Given the description of an element on the screen output the (x, y) to click on. 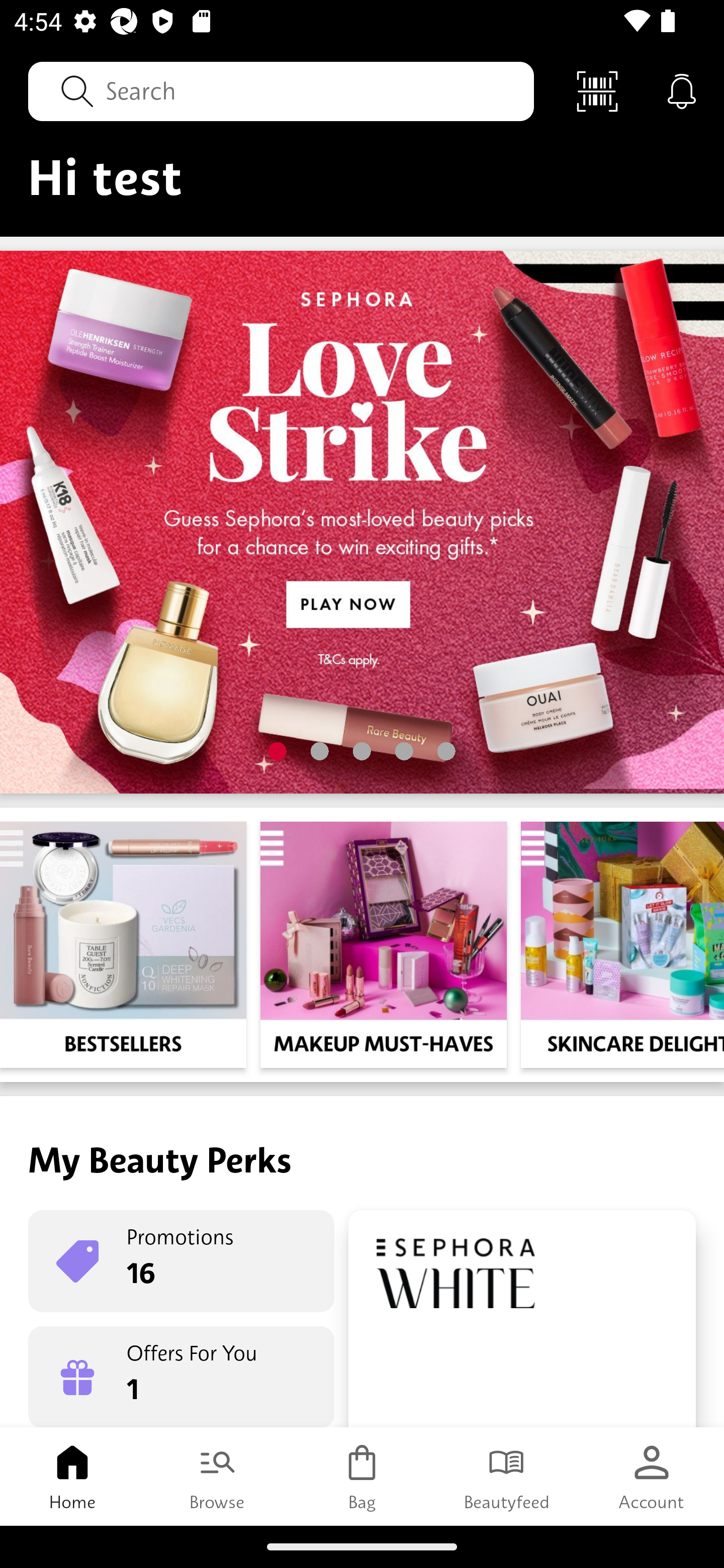
Scan Code (597, 90)
Notifications (681, 90)
Search (281, 90)
Promotions 16 (181, 1261)
Rewards Boutique 90 Pts (521, 1318)
Offers For You 1 (181, 1376)
Browse (216, 1475)
Bag (361, 1475)
Beautyfeed (506, 1475)
Account (651, 1475)
